Given the description of an element on the screen output the (x, y) to click on. 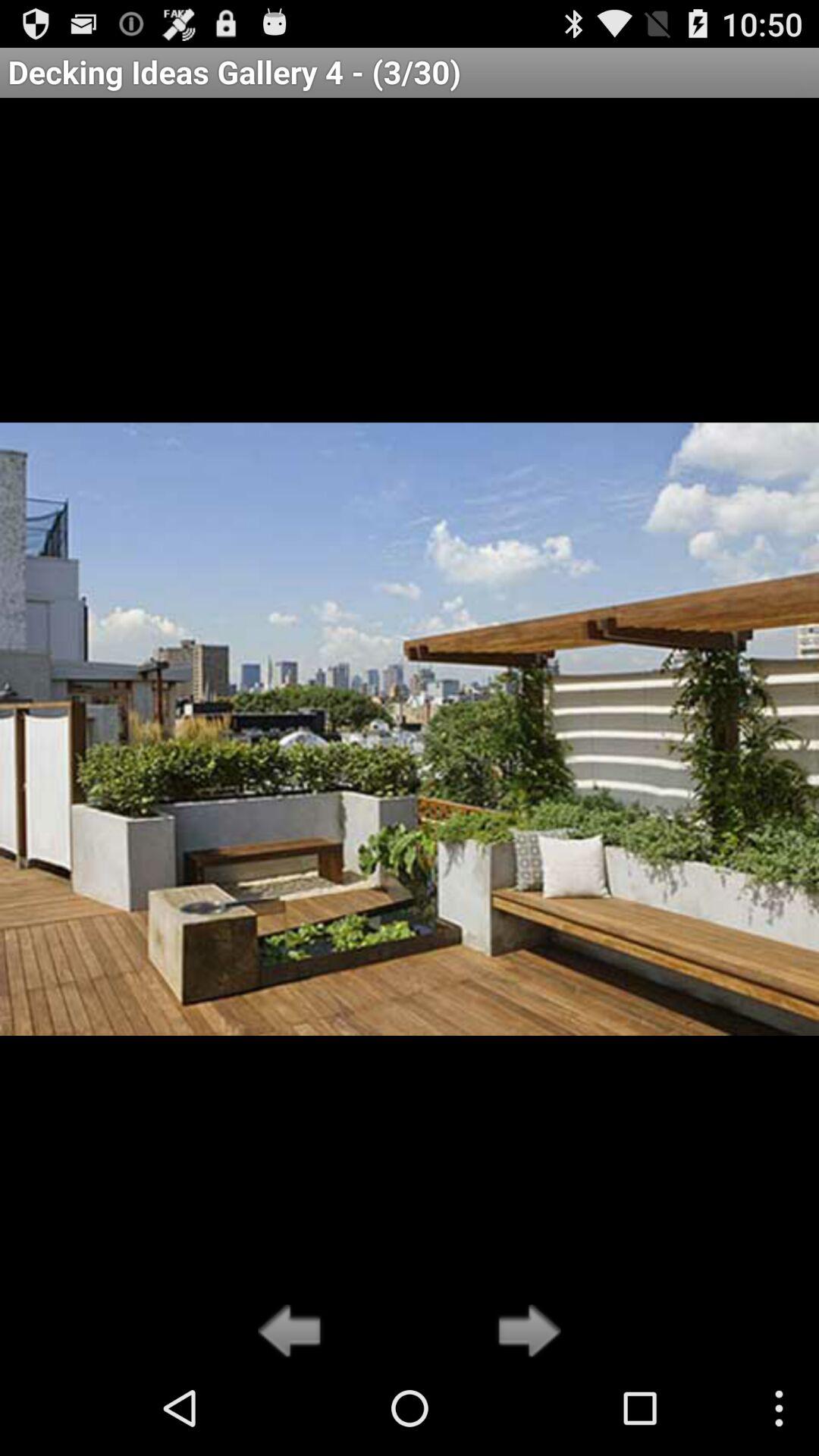
next option (524, 1332)
